Given the description of an element on the screen output the (x, y) to click on. 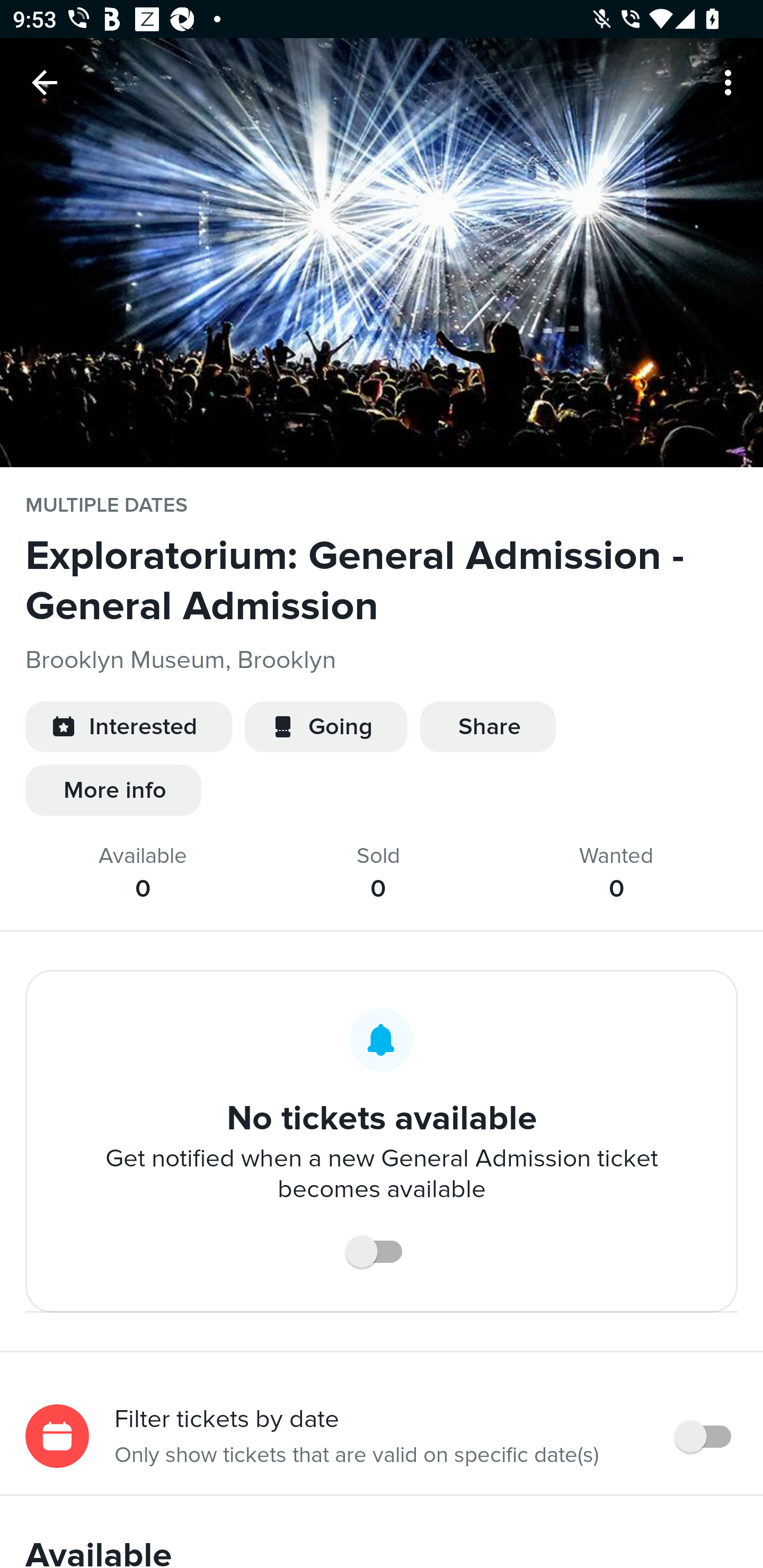
Navigate up (44, 82)
More options (731, 81)
Interested (128, 726)
Going (325, 726)
Share (487, 726)
More info (113, 790)
